Given the description of an element on the screen output the (x, y) to click on. 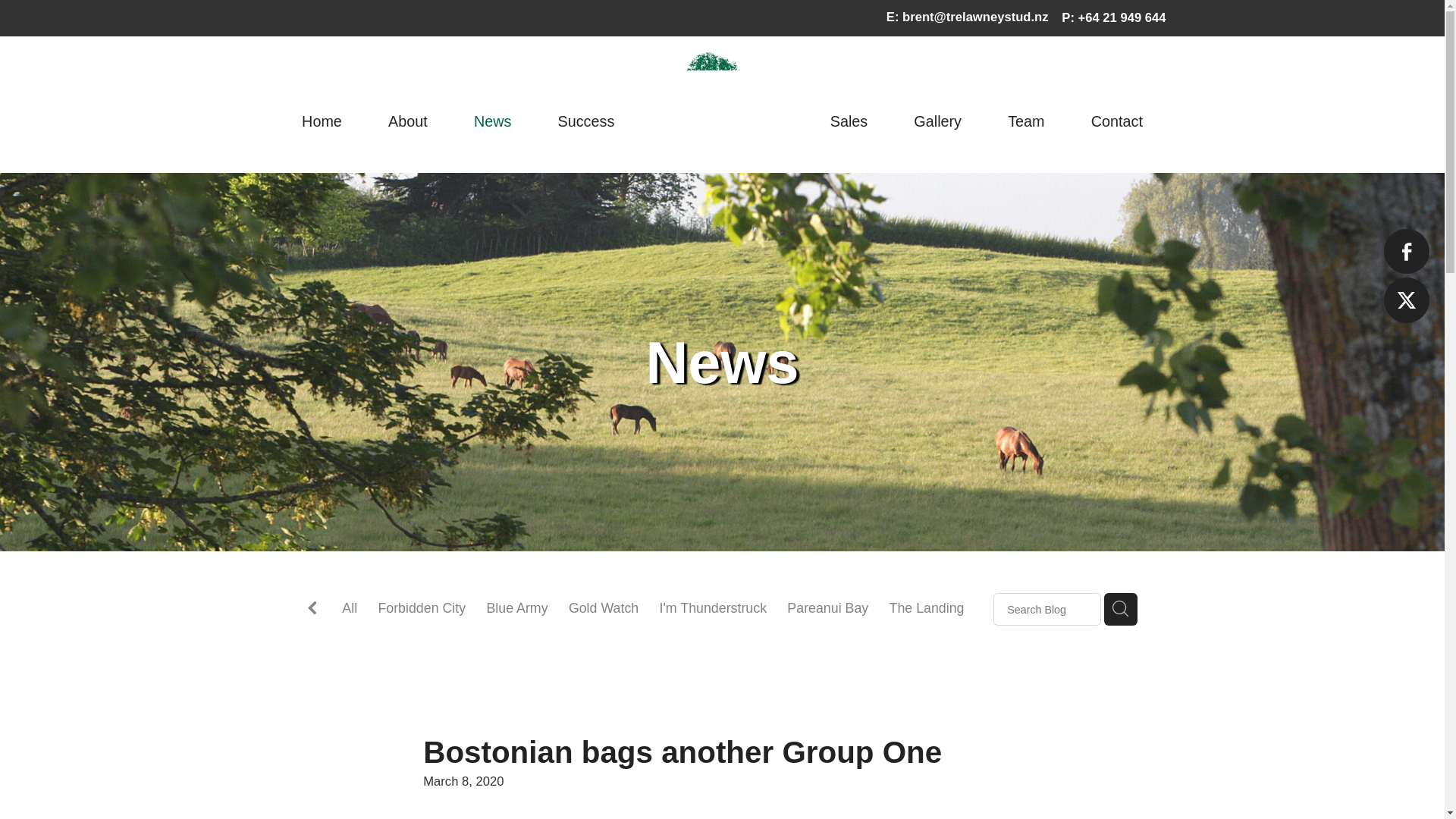
Blue Army (516, 608)
He's The Ultimate (395, 629)
All (349, 607)
So Wicked (601, 629)
Forbidden City (421, 608)
Gold Watch (604, 608)
Success (585, 122)
David Paykel (508, 629)
A link to this website's Facebook. (1406, 251)
The Landing (926, 608)
Team (1025, 122)
About (408, 122)
Pareanui Bay (827, 608)
A link to this website's X. (1406, 299)
Sales (848, 122)
